Given the description of an element on the screen output the (x, y) to click on. 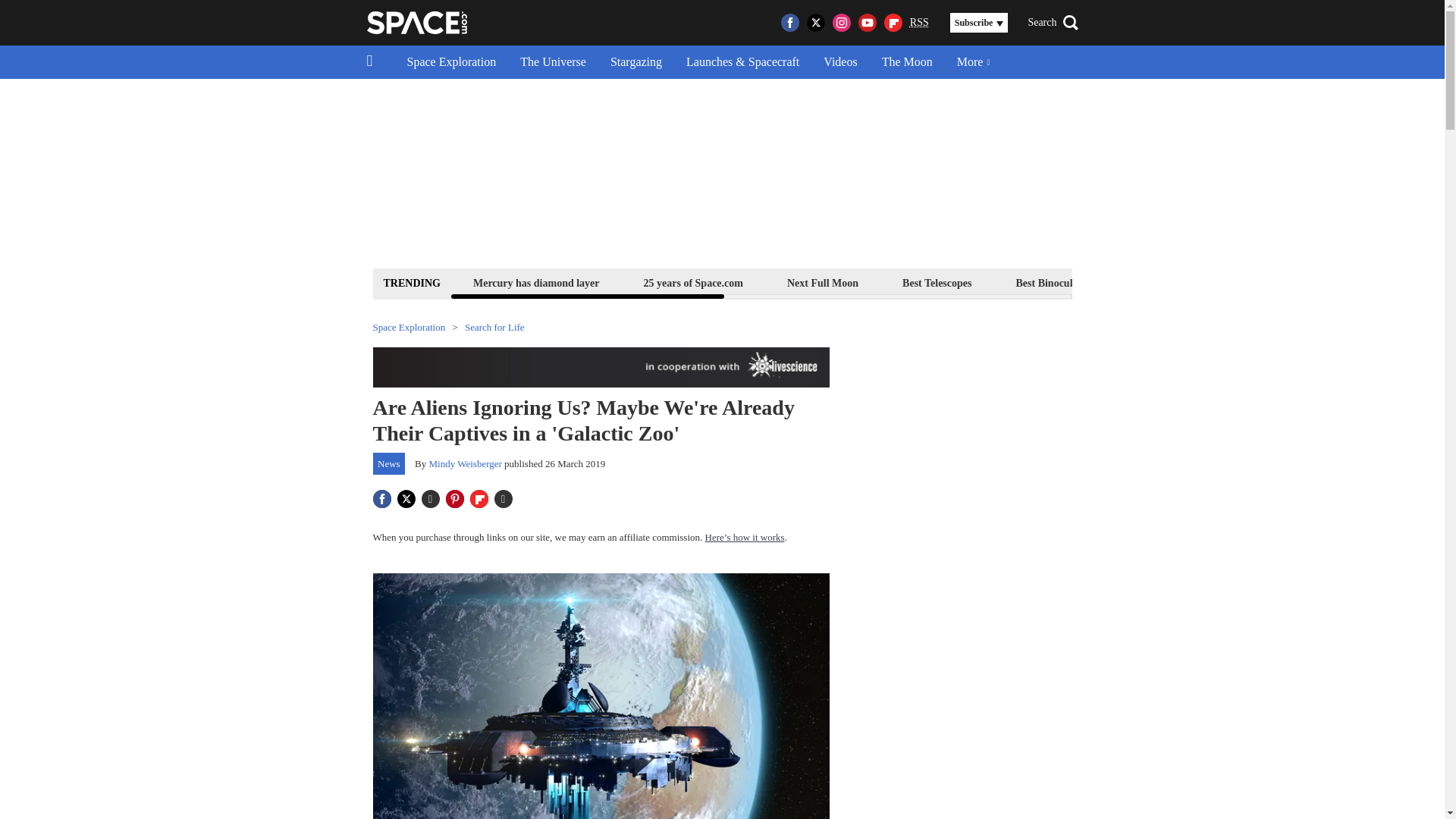
25 years of Space.com (693, 282)
Mercury has diamond layer (536, 282)
Stargazing (636, 61)
Best Star Projectors (1176, 282)
The Moon (906, 61)
Next Full Moon (822, 282)
Best Binoculars (1051, 282)
Videos (839, 61)
Really Simple Syndication (919, 21)
Space Exploration (451, 61)
Best Telescopes (936, 282)
Space Calendar (1301, 282)
RSS (919, 22)
The Universe (553, 61)
